Given the description of an element on the screen output the (x, y) to click on. 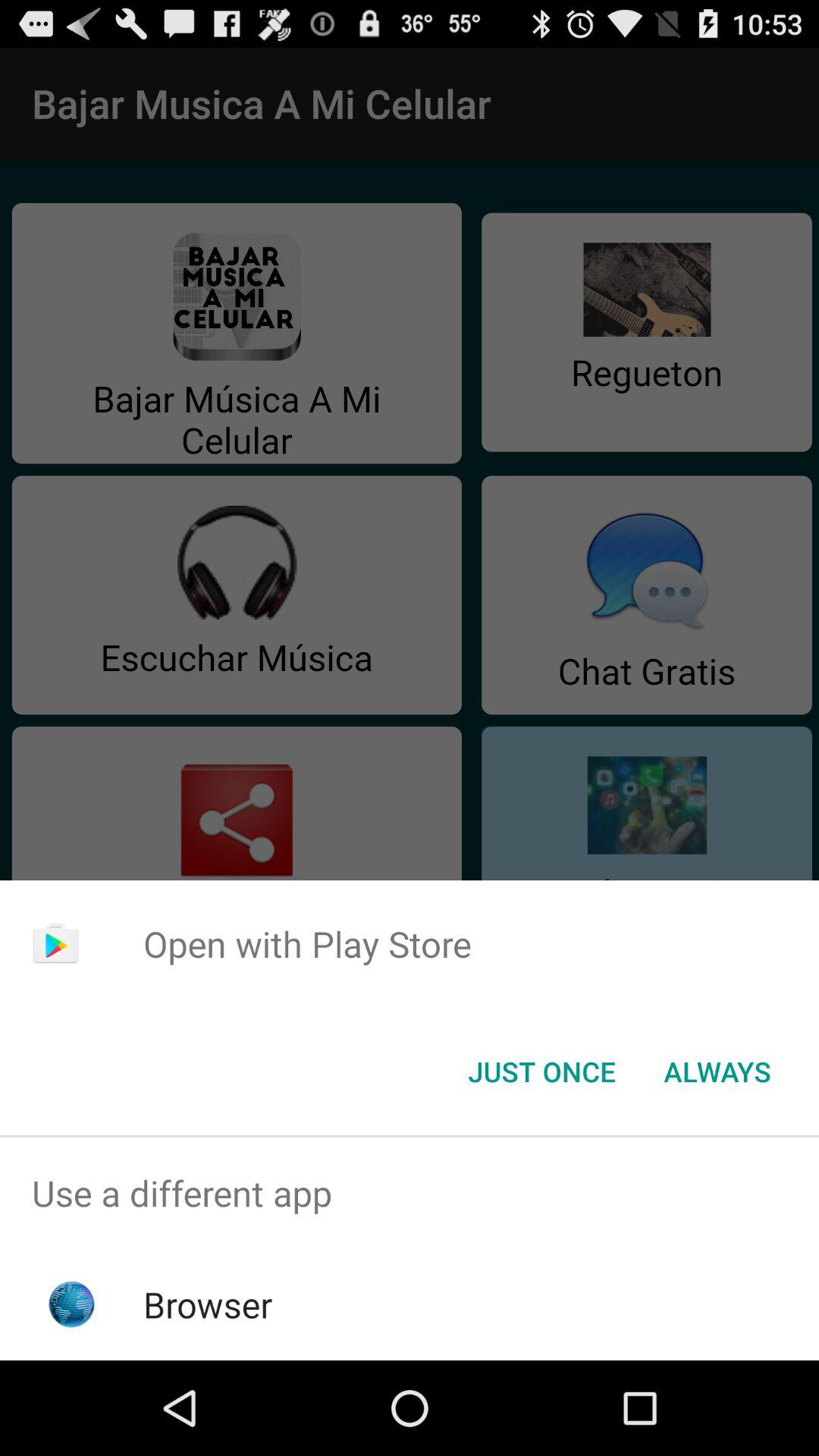
tap item below open with play (717, 1071)
